Given the description of an element on the screen output the (x, y) to click on. 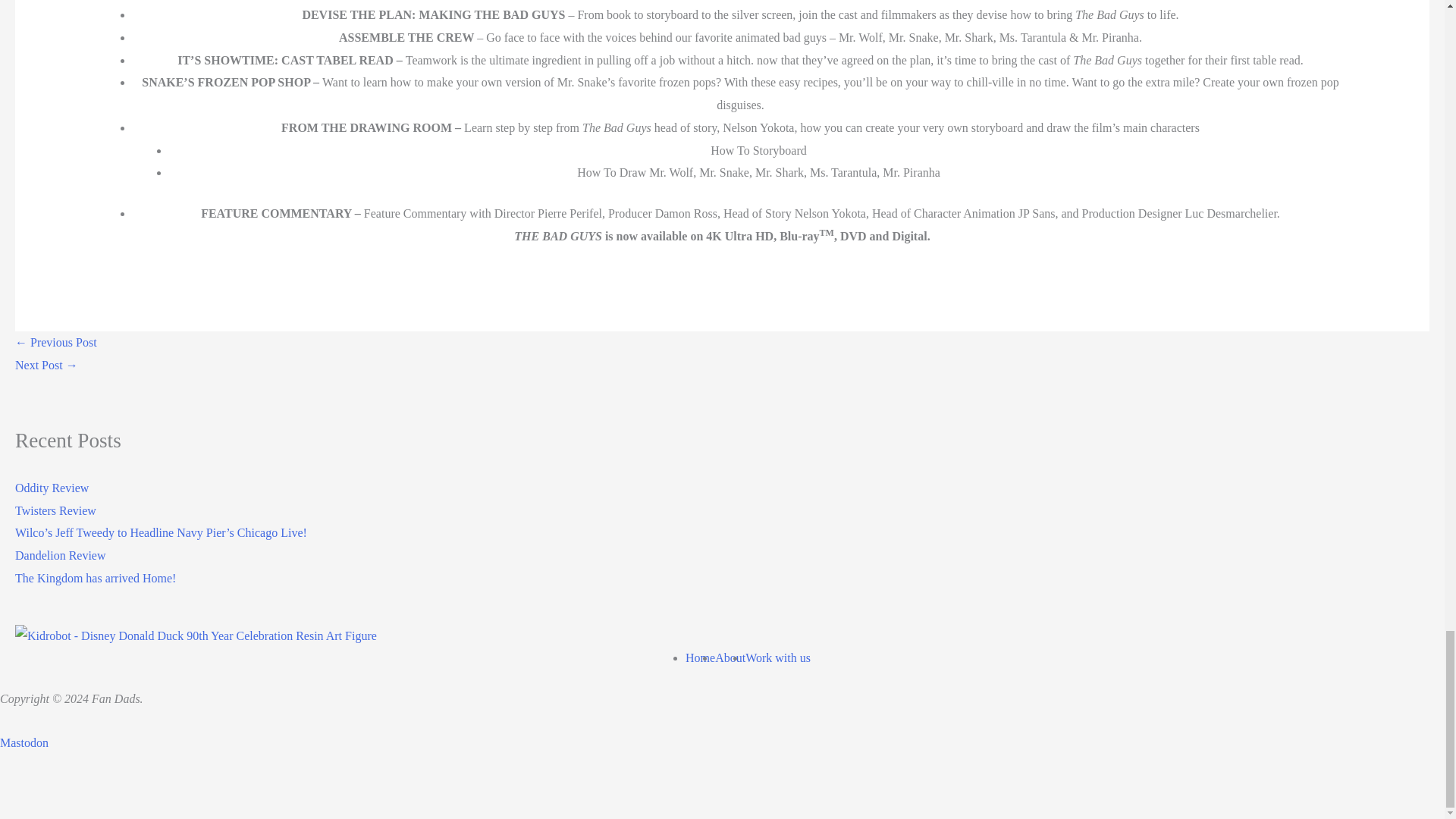
Twisters Review (55, 510)
The Kingdom has arrived Home! (95, 577)
Finding Meaning with Father Stu (55, 341)
Dandelion Review (60, 554)
Where to Watch AEW Forbidden Door (46, 364)
Oddity Review (51, 487)
